Given the description of an element on the screen output the (x, y) to click on. 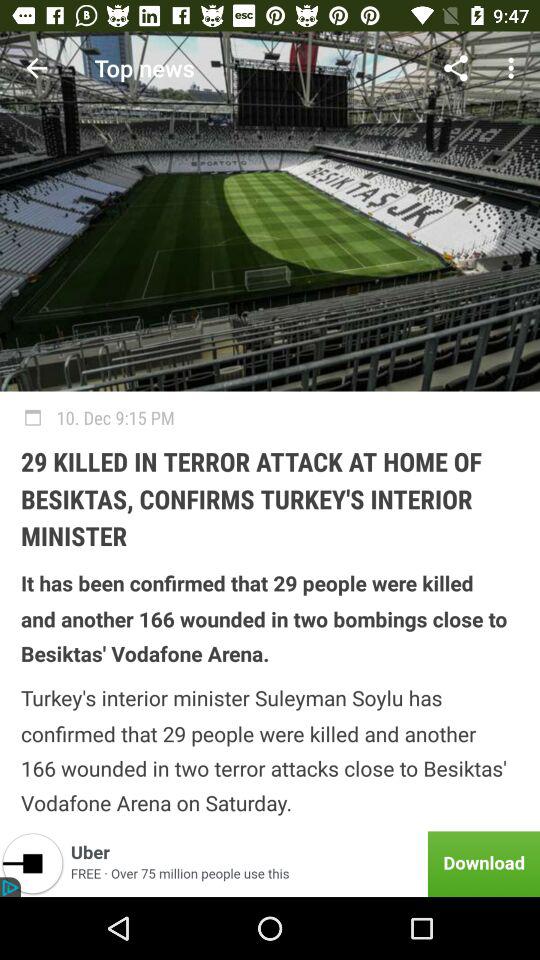
click the icon to the left of the top news item (36, 68)
